Given the description of an element on the screen output the (x, y) to click on. 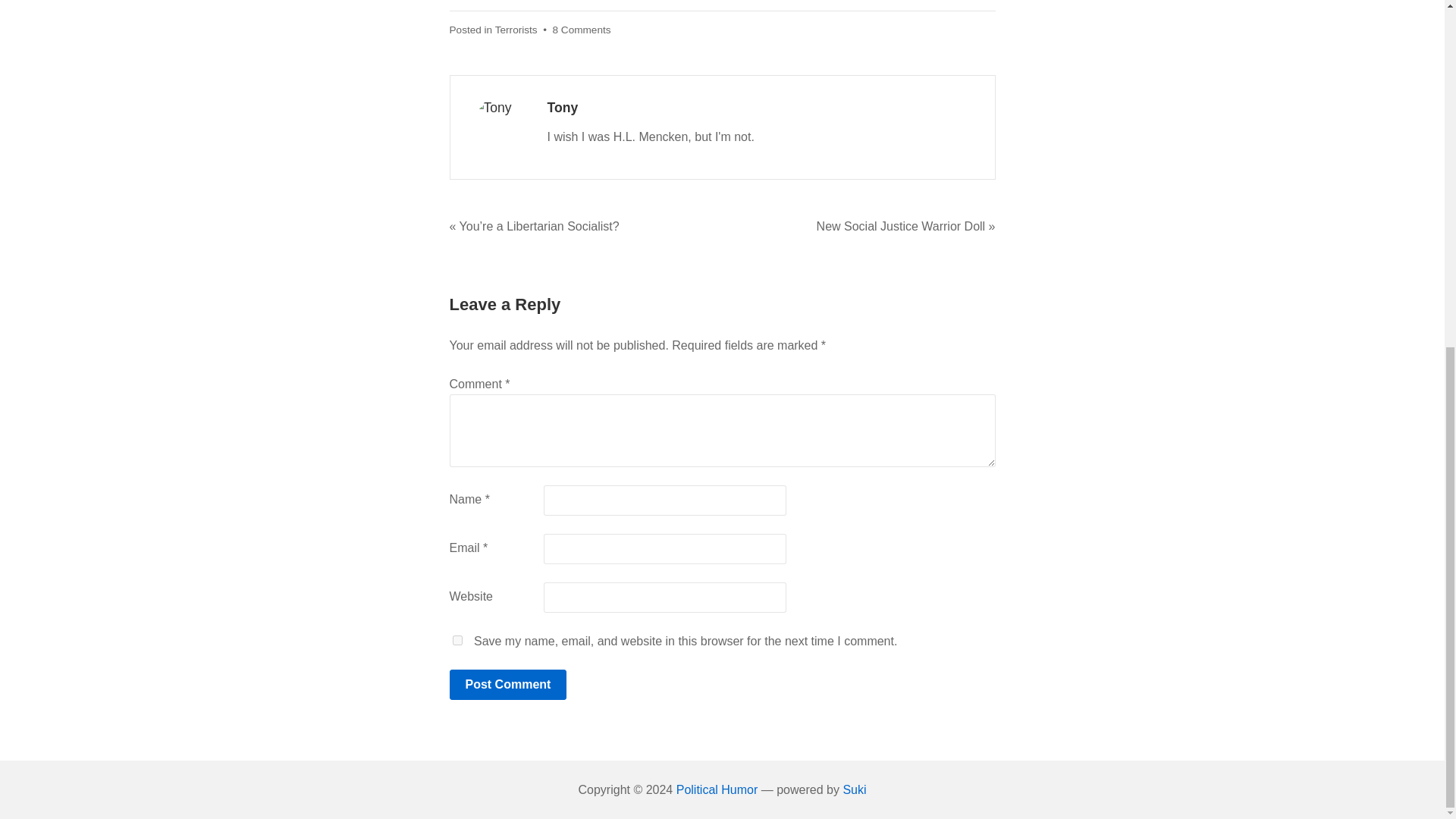
Post Comment (507, 684)
Posts by Tony (562, 107)
yes (456, 640)
